Given the description of an element on the screen output the (x, y) to click on. 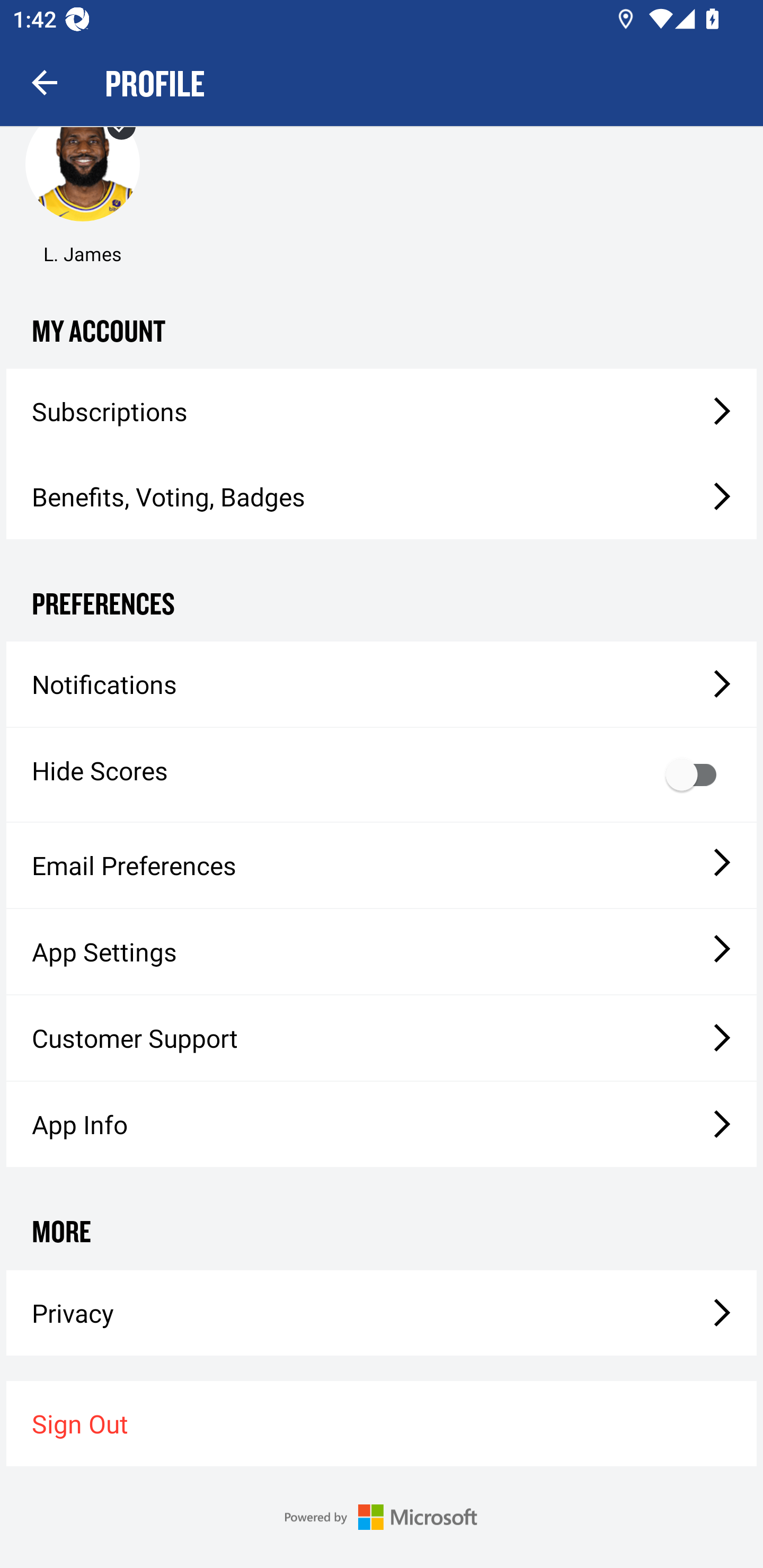
Navigate up (44, 82)
L. James (82, 186)
Subscriptions (381, 411)
Benefits, Voting, Badges (381, 496)
Notifications (381, 684)
Hide Scores (381, 774)
Email Preferences (381, 865)
App Settings (381, 951)
Customer Support (381, 1037)
App Info (381, 1123)
Privacy (381, 1313)
Sign Out (381, 1423)
